Given the description of an element on the screen output the (x, y) to click on. 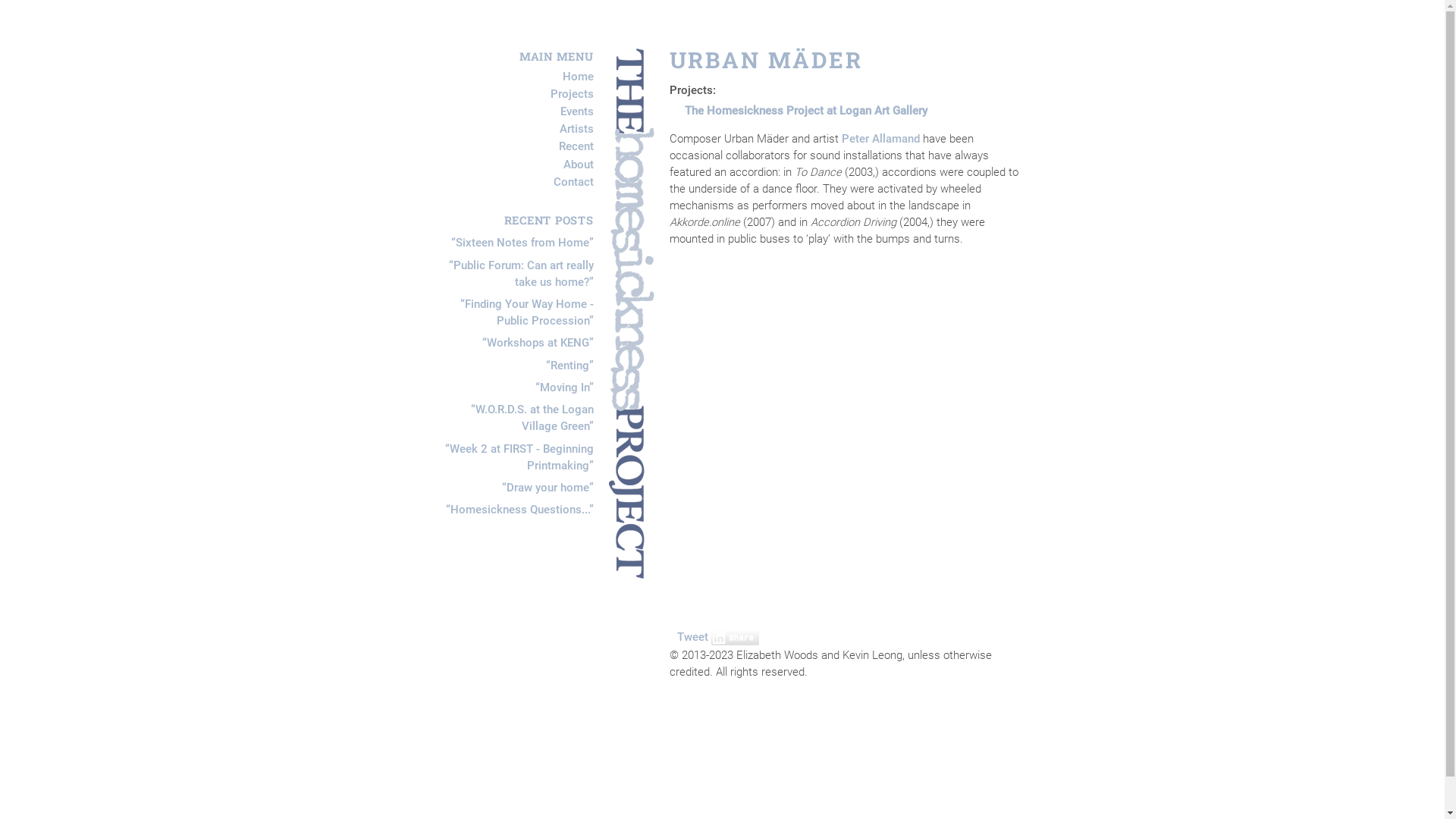
W.O.R.D.S. at the Logan Village Green Element type: text (531, 417)
Renting Element type: text (569, 365)
Artists Element type: text (576, 128)
The Homesickness Project at Logan Art Gallery Element type: text (805, 110)
Share Element type: text (735, 637)
Finding Your Way Home - Public Procession Element type: text (526, 312)
Sixteen Notes from Home Element type: text (521, 242)
Public Forum: Can art really take us home? Element type: text (520, 273)
Contact Element type: text (573, 181)
Week 2 at FIRST - Beginning Printmaking Element type: text (518, 457)
Draw your home Element type: text (547, 487)
Recent Element type: text (575, 146)
Workshops at KENG Element type: text (537, 342)
Skip to main content Element type: text (52, 48)
About Element type: text (577, 164)
Peter Allamand Element type: text (880, 138)
Homesickness Questions... Element type: text (519, 509)
Home Element type: text (577, 76)
Tweet Element type: text (691, 636)
Moving In Element type: text (564, 387)
Events Element type: text (576, 111)
Projects Element type: text (571, 93)
